Given the description of an element on the screen output the (x, y) to click on. 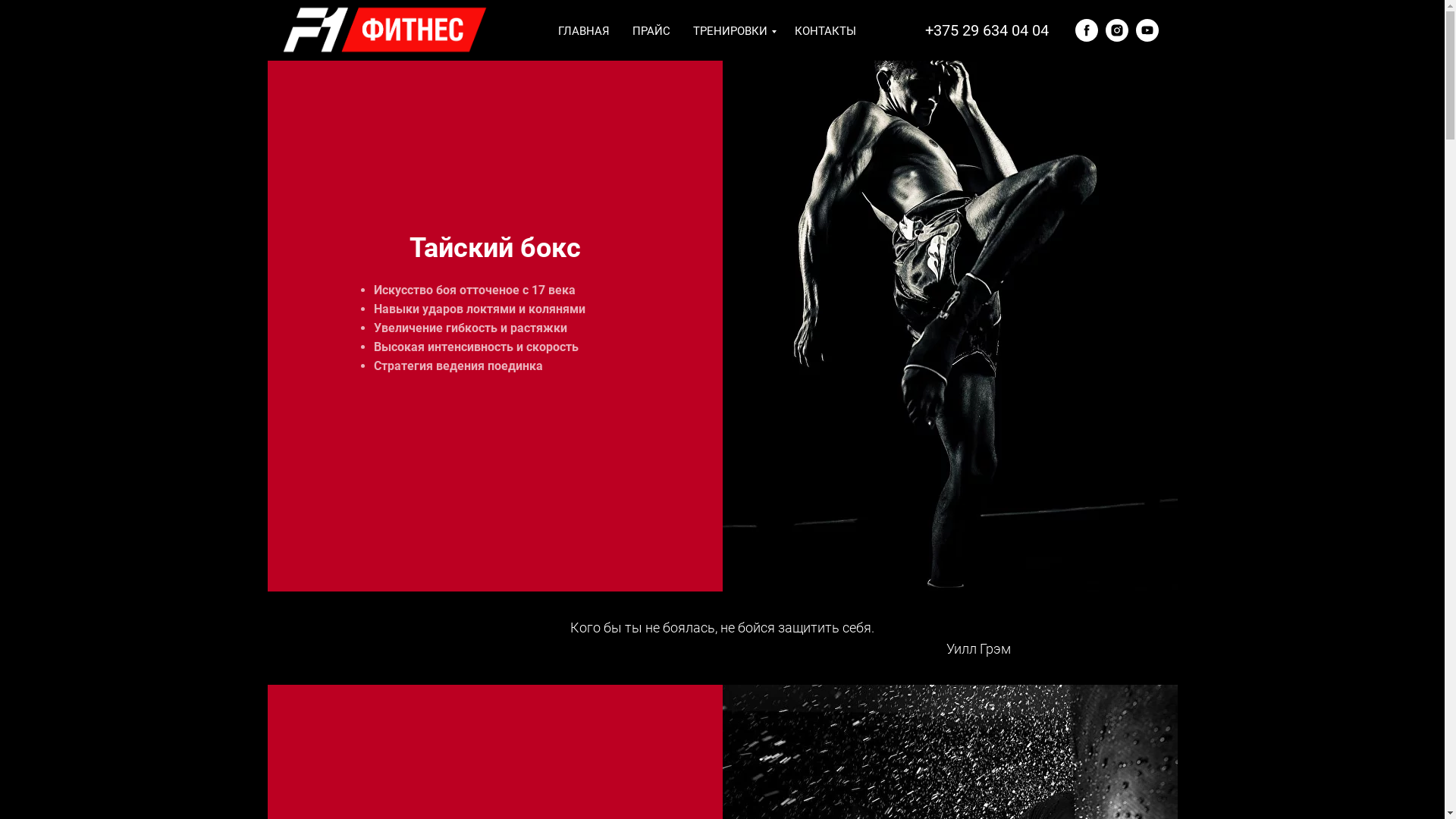
+375 29 634 04 04 Element type: text (986, 30)
